Given the description of an element on the screen output the (x, y) to click on. 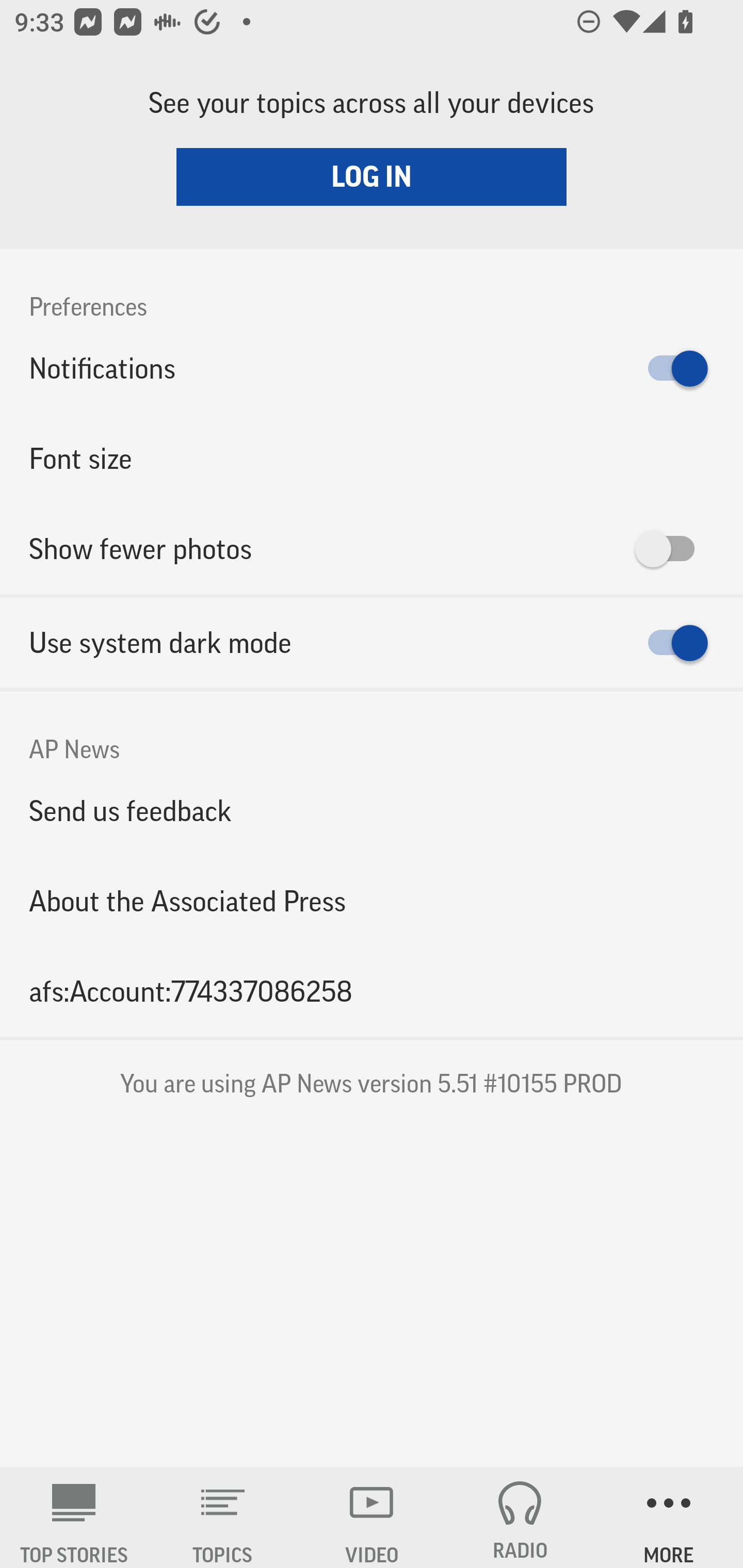
LOG IN (371, 176)
Notifications (371, 368)
Font size (371, 458)
Show fewer photos (371, 548)
Use system dark mode (371, 642)
Send us feedback (371, 810)
About the Associated Press (371, 901)
afs:Account:774337086258 (371, 991)
AP News TOP STORIES (74, 1517)
TOPICS (222, 1517)
VIDEO (371, 1517)
RADIO (519, 1517)
MORE (668, 1517)
